Given the description of an element on the screen output the (x, y) to click on. 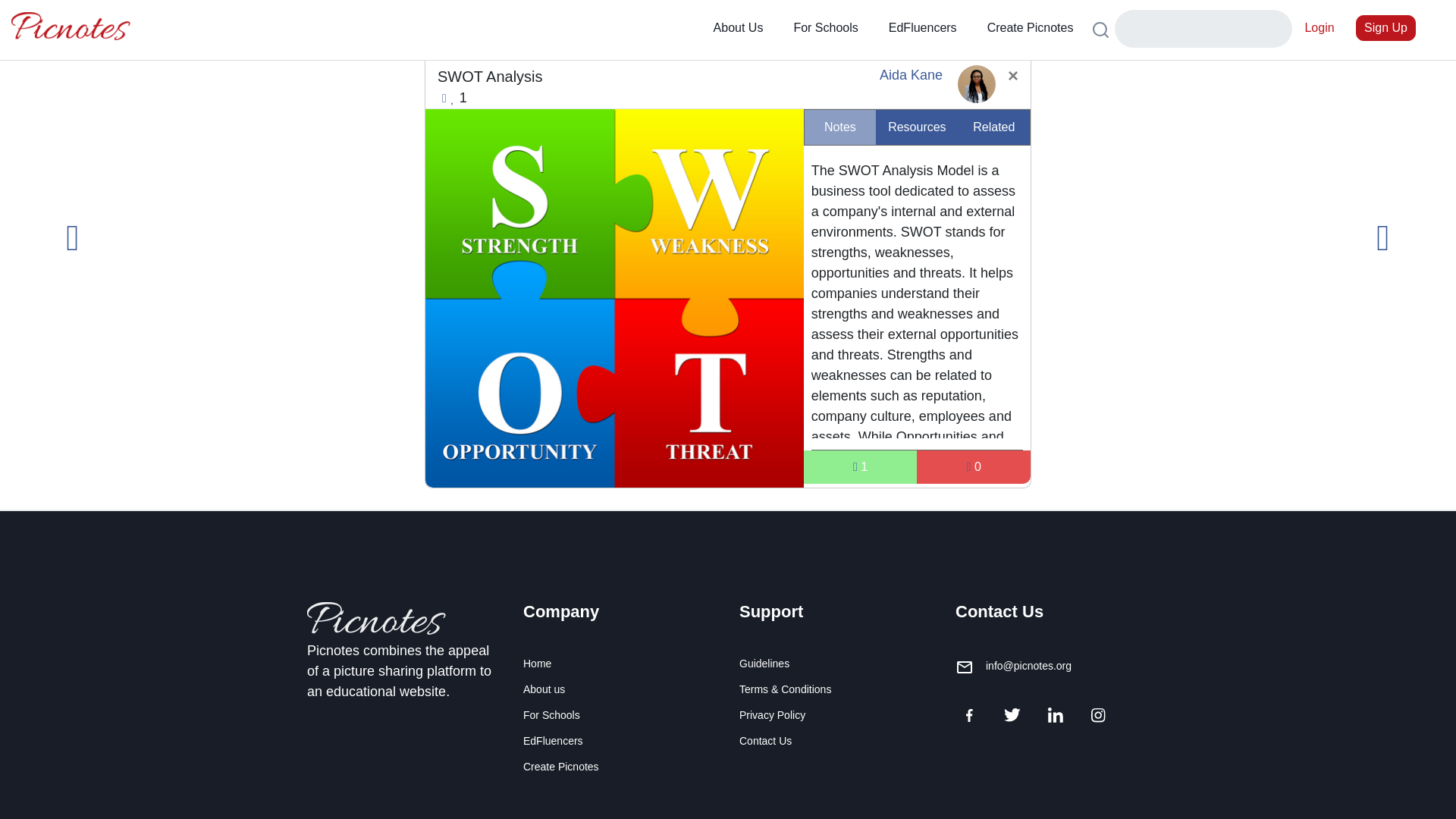
Resources (917, 126)
Related (993, 126)
Aida Kane (910, 74)
Notes (840, 126)
